Given the description of an element on the screen output the (x, y) to click on. 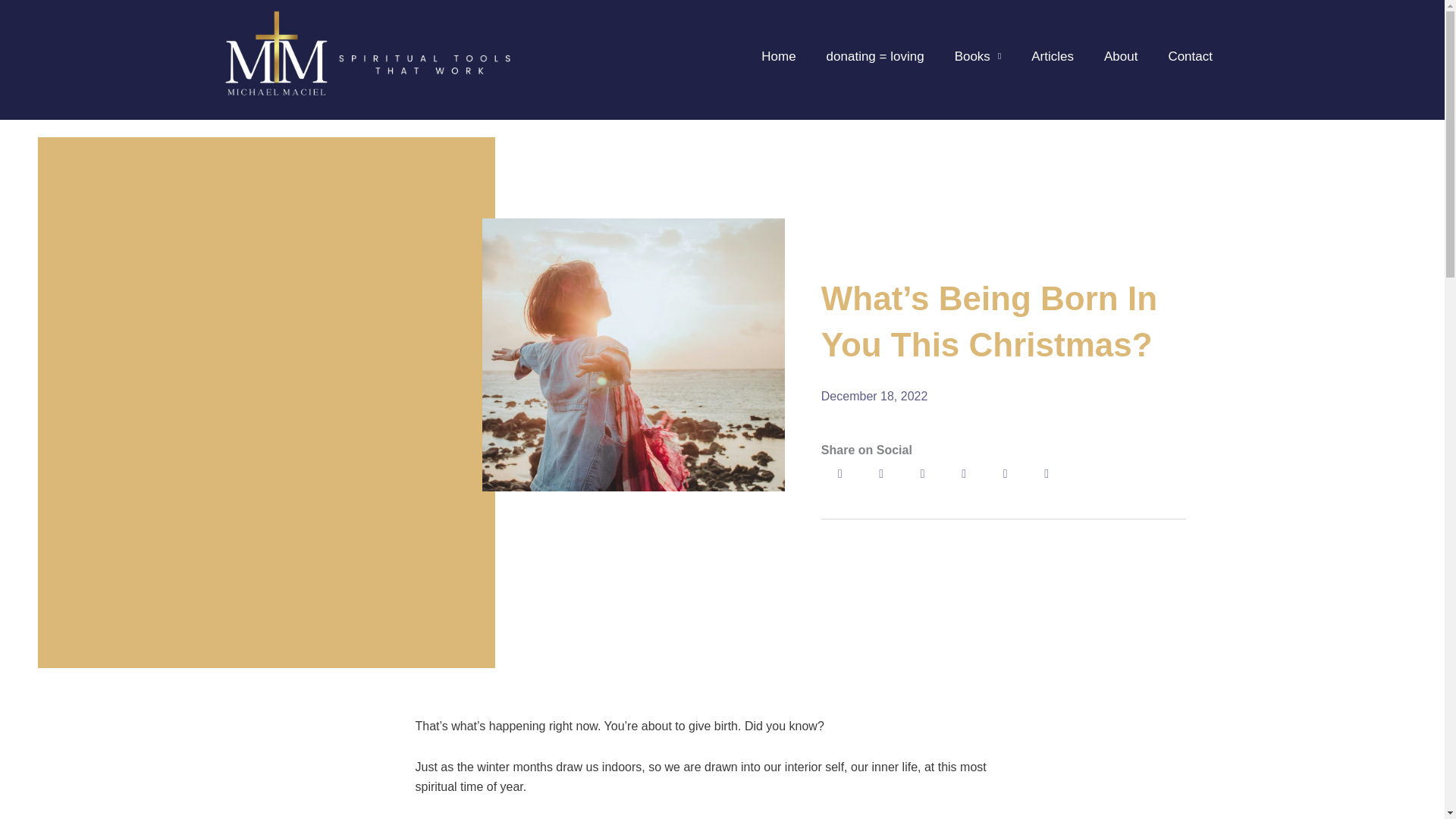
Home (777, 56)
December 18, 2022 (874, 395)
About (1121, 56)
Articles (1052, 56)
Contact (1190, 56)
Books (977, 56)
